Given the description of an element on the screen output the (x, y) to click on. 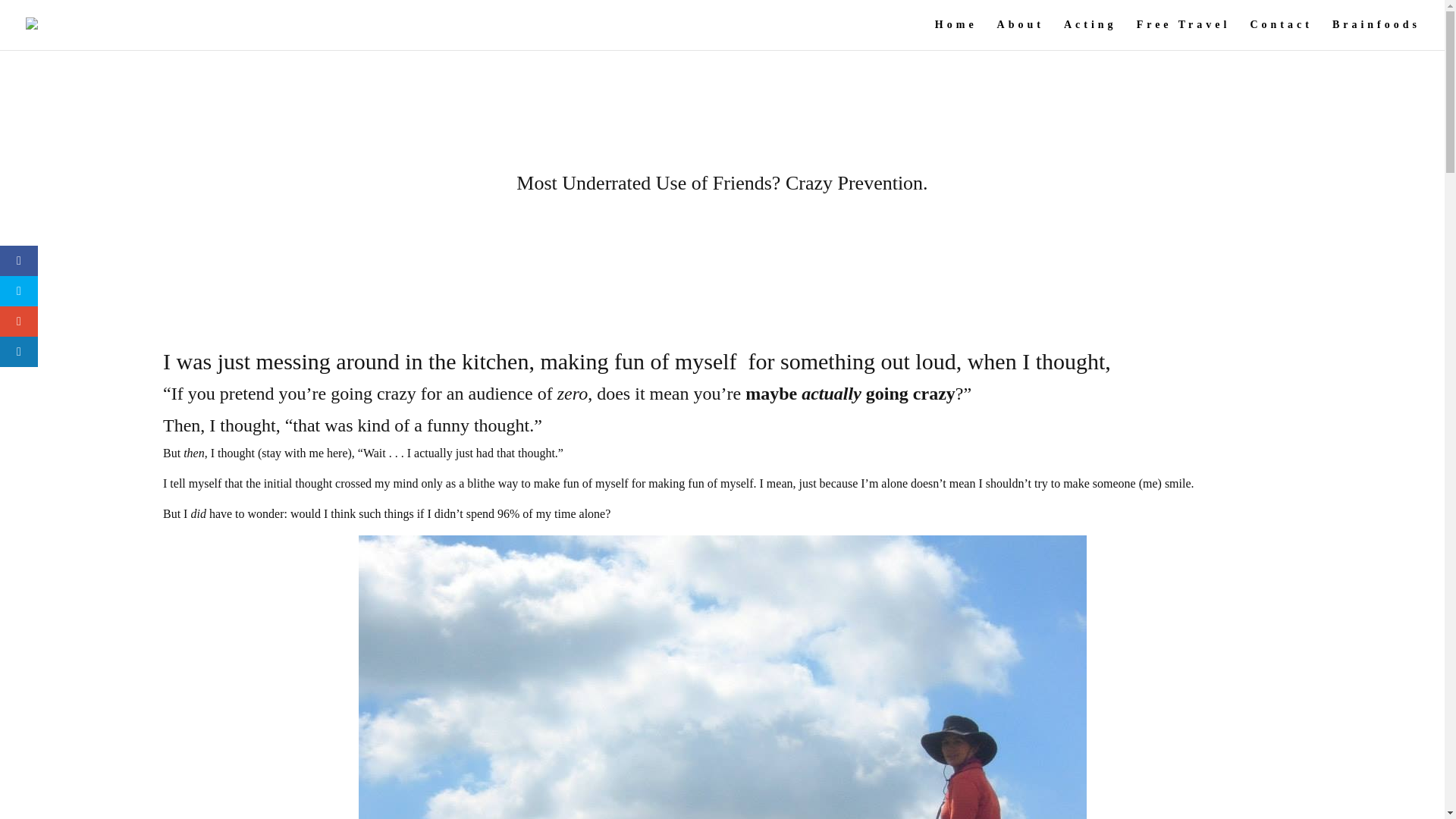
Home (955, 34)
About (1020, 34)
Free Travel (1183, 34)
Acting (1090, 34)
Brainfoods (1376, 34)
Contact (1280, 34)
